Given the description of an element on the screen output the (x, y) to click on. 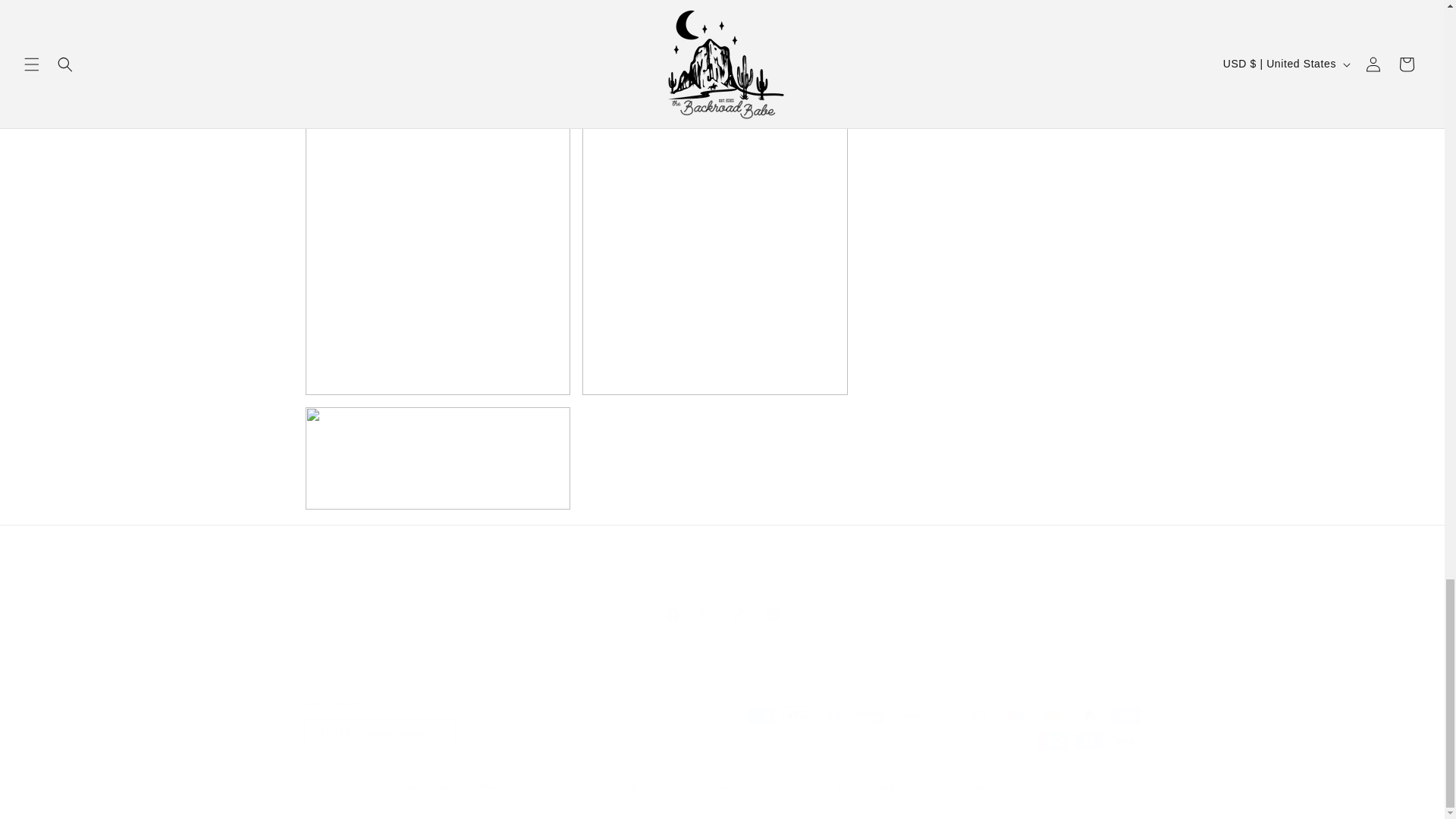
Open media 8 in modal (721, 614)
